Given the description of an element on the screen output the (x, y) to click on. 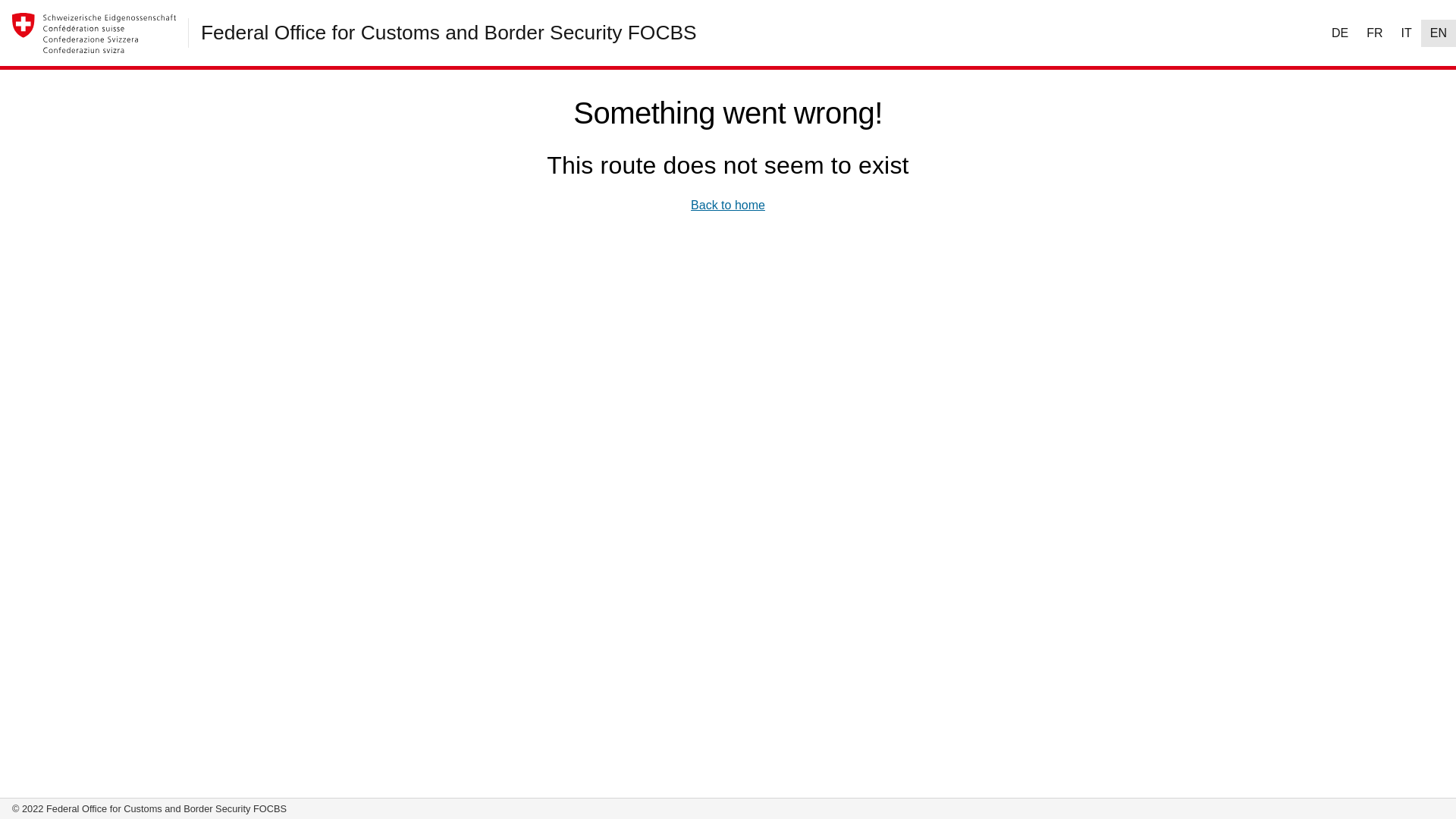
Federal Office for Customs and Border Security FOCBS Element type: text (448, 32)
DE Element type: text (1339, 33)
Back to home Element type: text (727, 205)
FR Element type: text (1374, 33)
IT Element type: text (1406, 33)
